Given the description of an element on the screen output the (x, y) to click on. 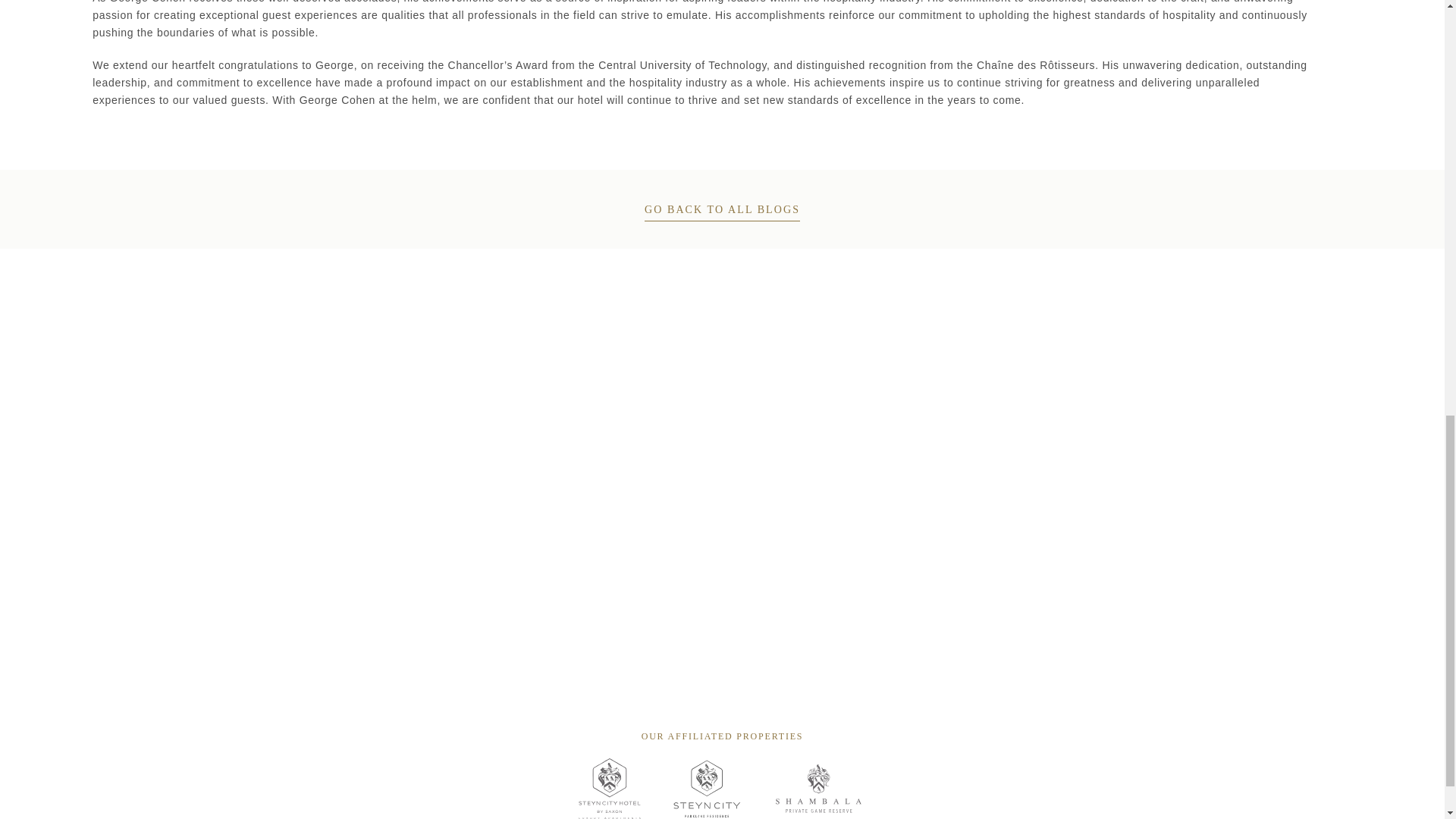
GO BACK TO ALL BLOGS (722, 209)
